Given the description of an element on the screen output the (x, y) to click on. 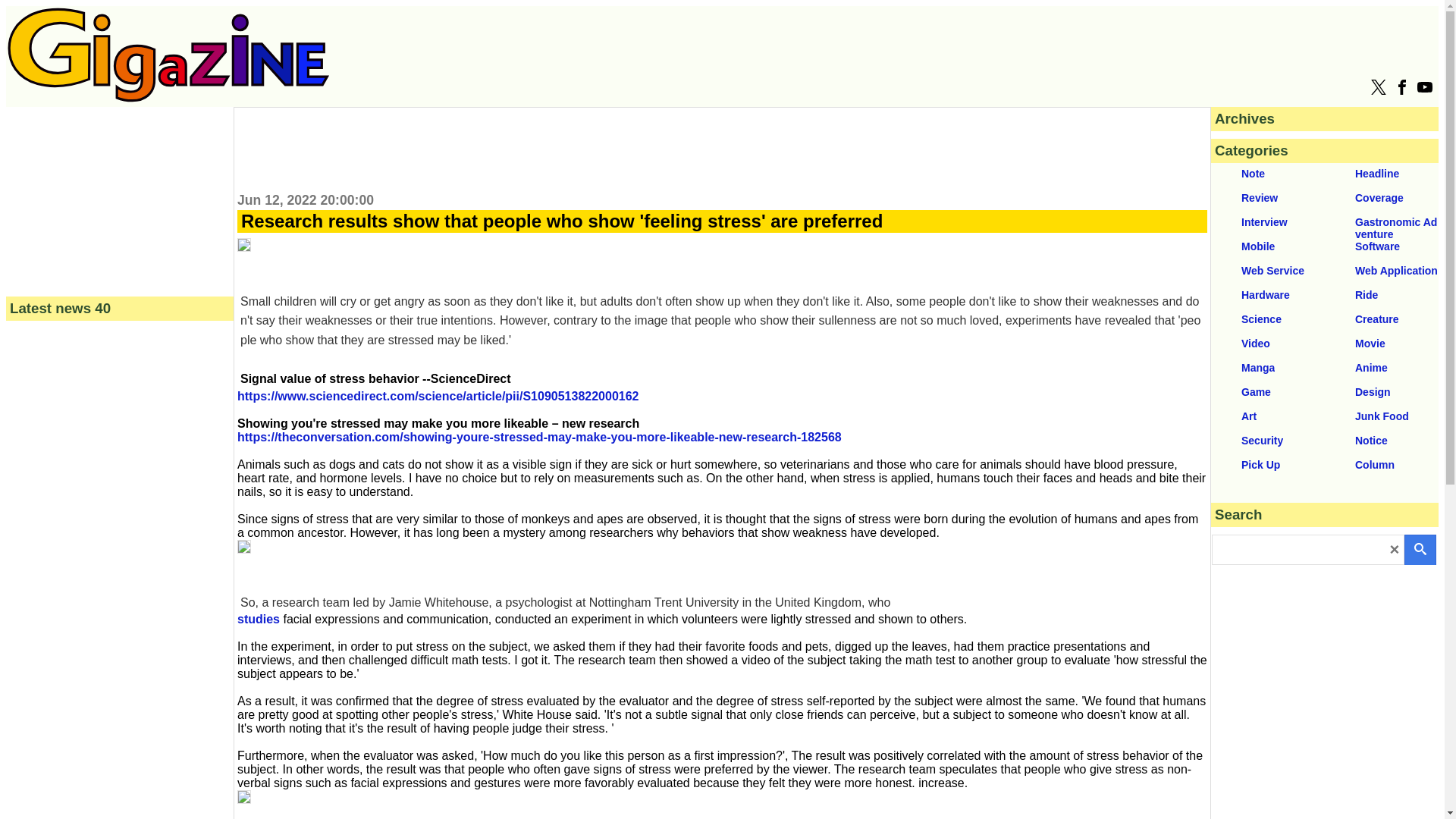
GIGAZINE (168, 54)
studies (258, 618)
Review (1267, 199)
GIGAZINE (168, 97)
Interview (1267, 223)
Note (1267, 175)
